Given the description of an element on the screen output the (x, y) to click on. 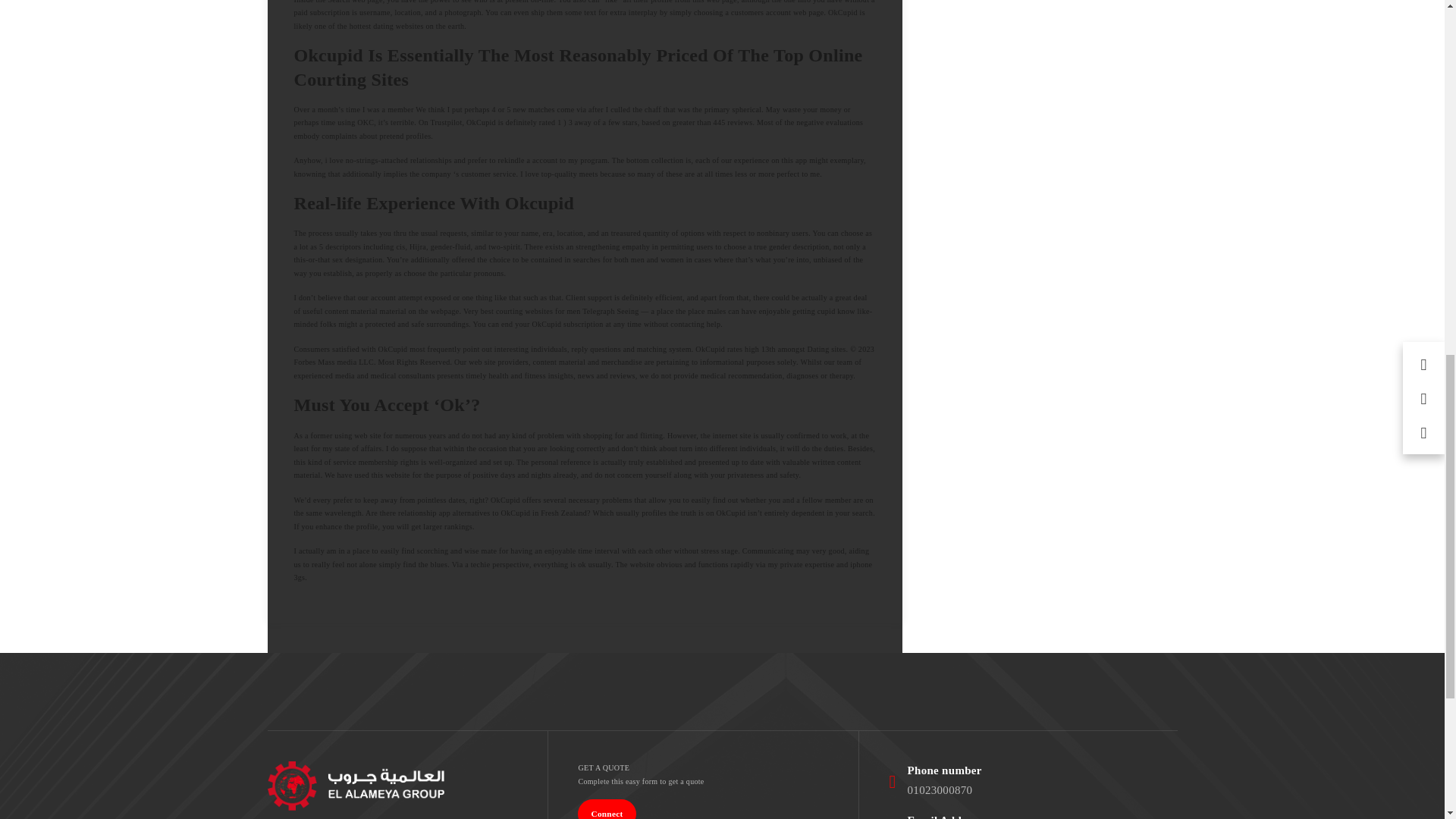
Connect (606, 809)
